Given the description of an element on the screen output the (x, y) to click on. 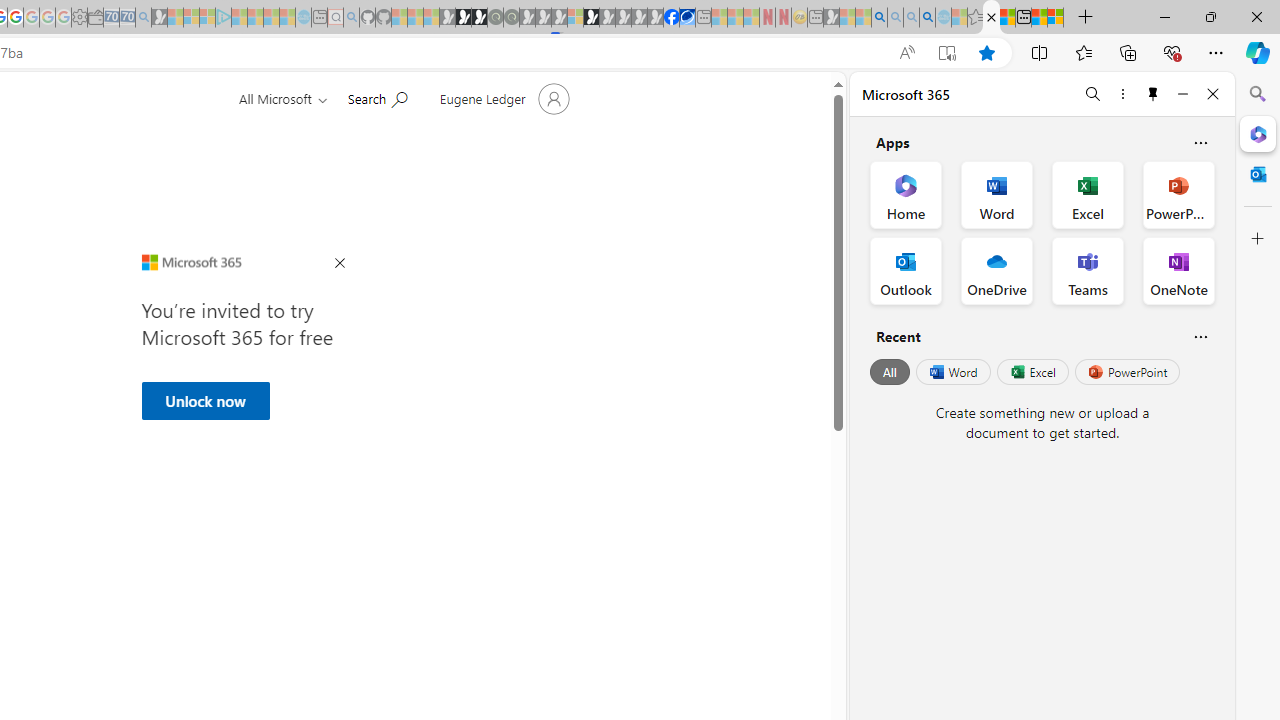
OneNote Office App (1178, 270)
Play Zoo Boom in your browser | Games from Microsoft Start (463, 17)
Is this helpful? (1200, 336)
Excel Office App (1087, 194)
Close Microsoft 365 pane (1258, 133)
Teams Office App (1087, 270)
Close Ad (339, 264)
Unpin side pane (1153, 93)
